Given the description of an element on the screen output the (x, y) to click on. 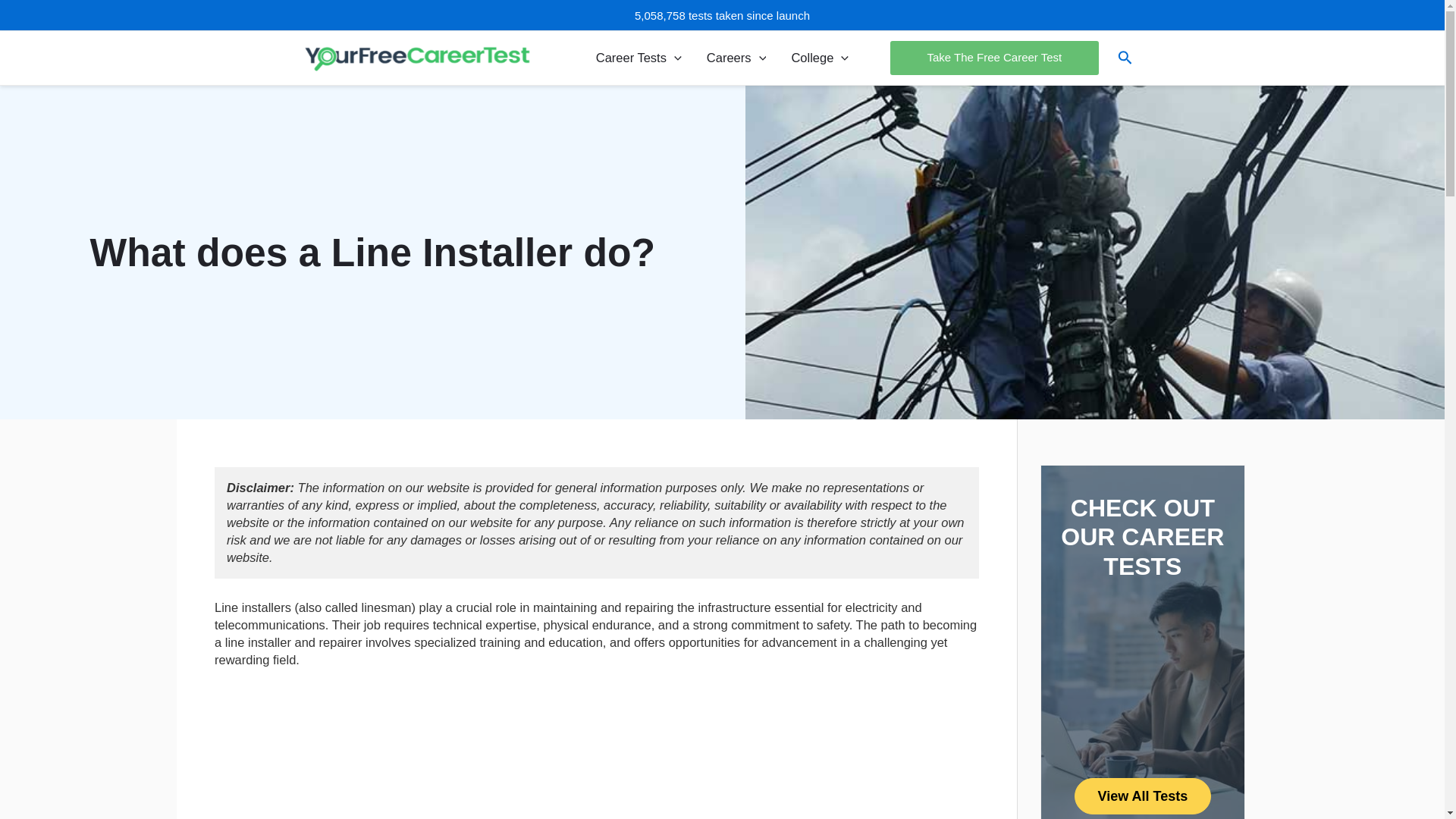
College (819, 57)
Careers (736, 57)
Career Tests (638, 57)
